Given the description of an element on the screen output the (x, y) to click on. 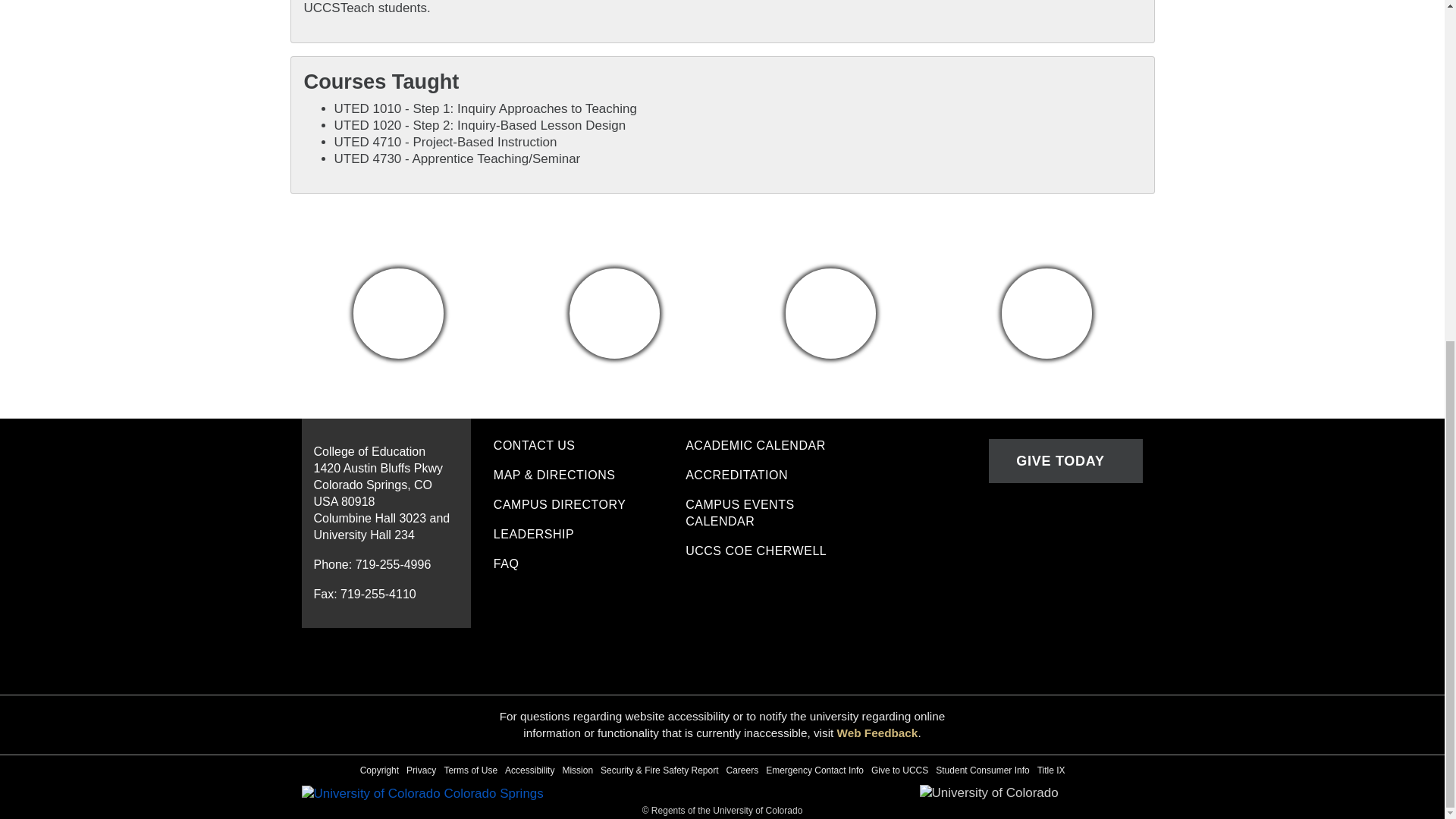
UCCS COE Cherwell Ticketing System (769, 551)
